Given the description of an element on the screen output the (x, y) to click on. 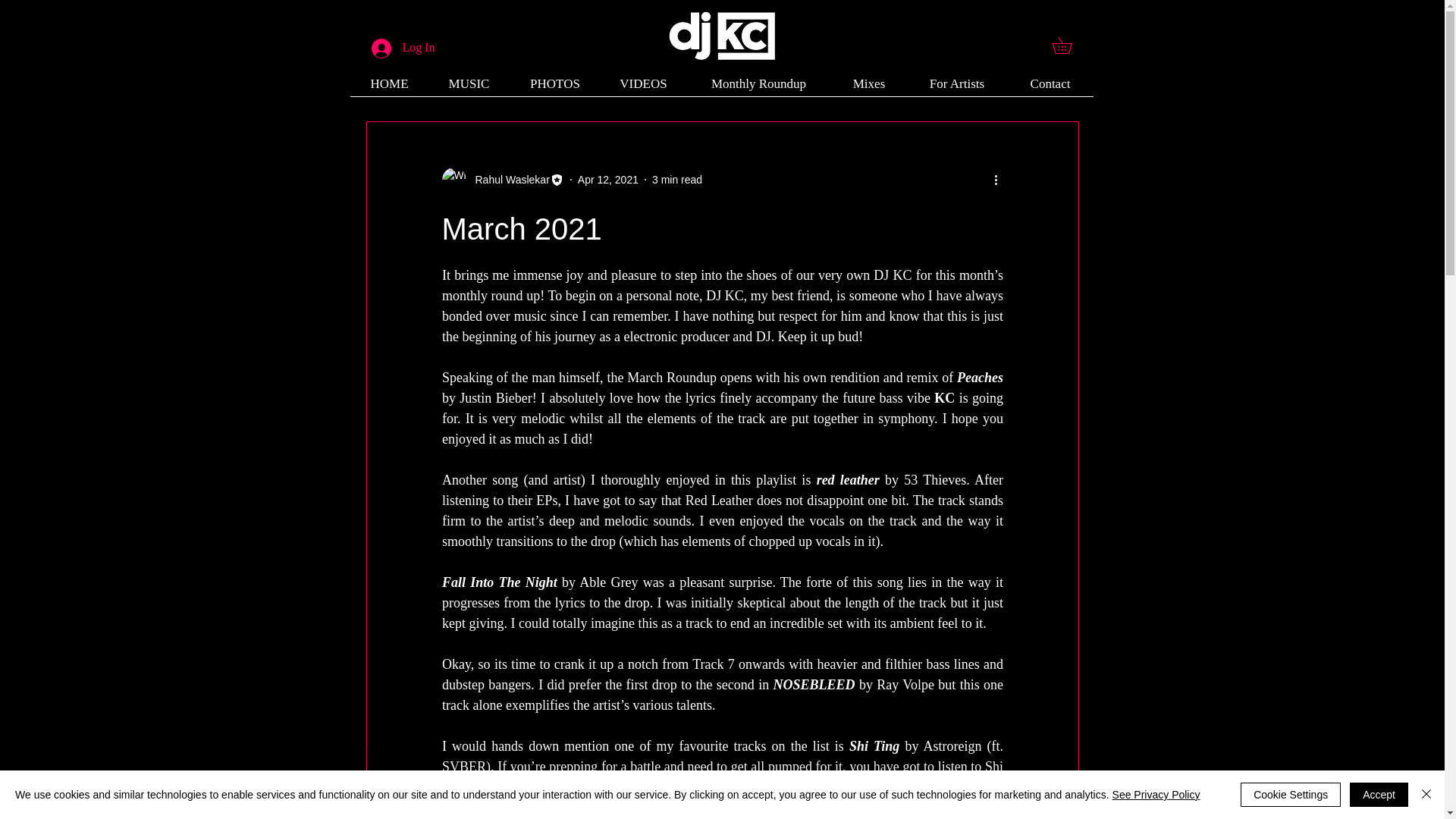
PHOTOS (555, 88)
Contact (1050, 88)
Log In (403, 47)
Rahul Waslekar (506, 179)
VIDEOS (642, 88)
Apr 12, 2021 (608, 179)
HOME (389, 88)
MUSIC (469, 88)
Rahul Waslekar (502, 179)
Monthly Roundup (758, 88)
3 min read (676, 179)
